Given the description of an element on the screen output the (x, y) to click on. 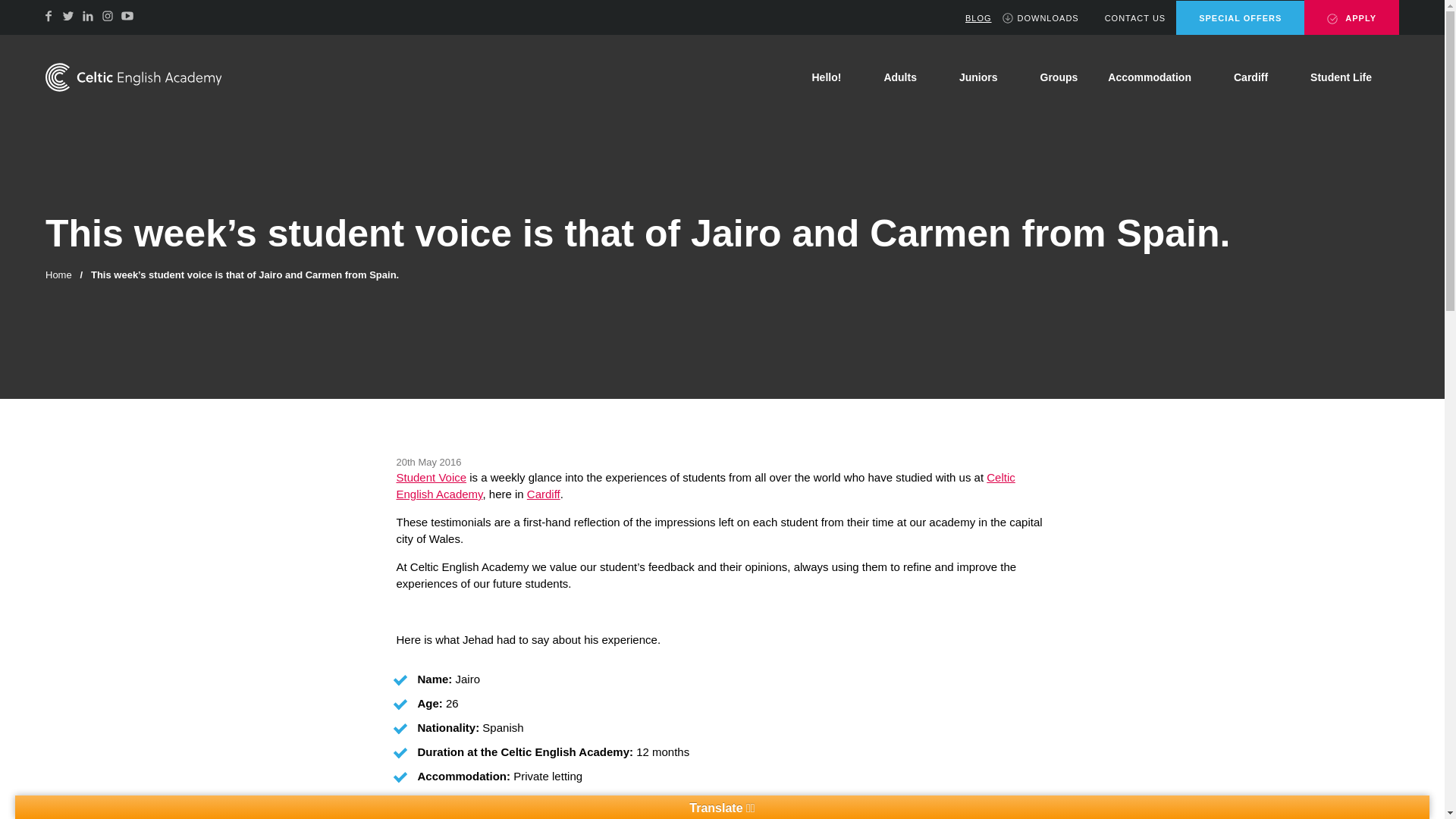
Find us on Facebook (48, 15)
Find us on LinkedIn (87, 15)
Find us on Twitter (68, 15)
BLOG (970, 18)
Find us on YouTube (126, 15)
Find us on Twitter (68, 15)
Find us on YouTube (126, 15)
APPLY (1351, 17)
SPECIAL OFFERS (1240, 17)
Find us on Facebook (48, 15)
